Given the description of an element on the screen output the (x, y) to click on. 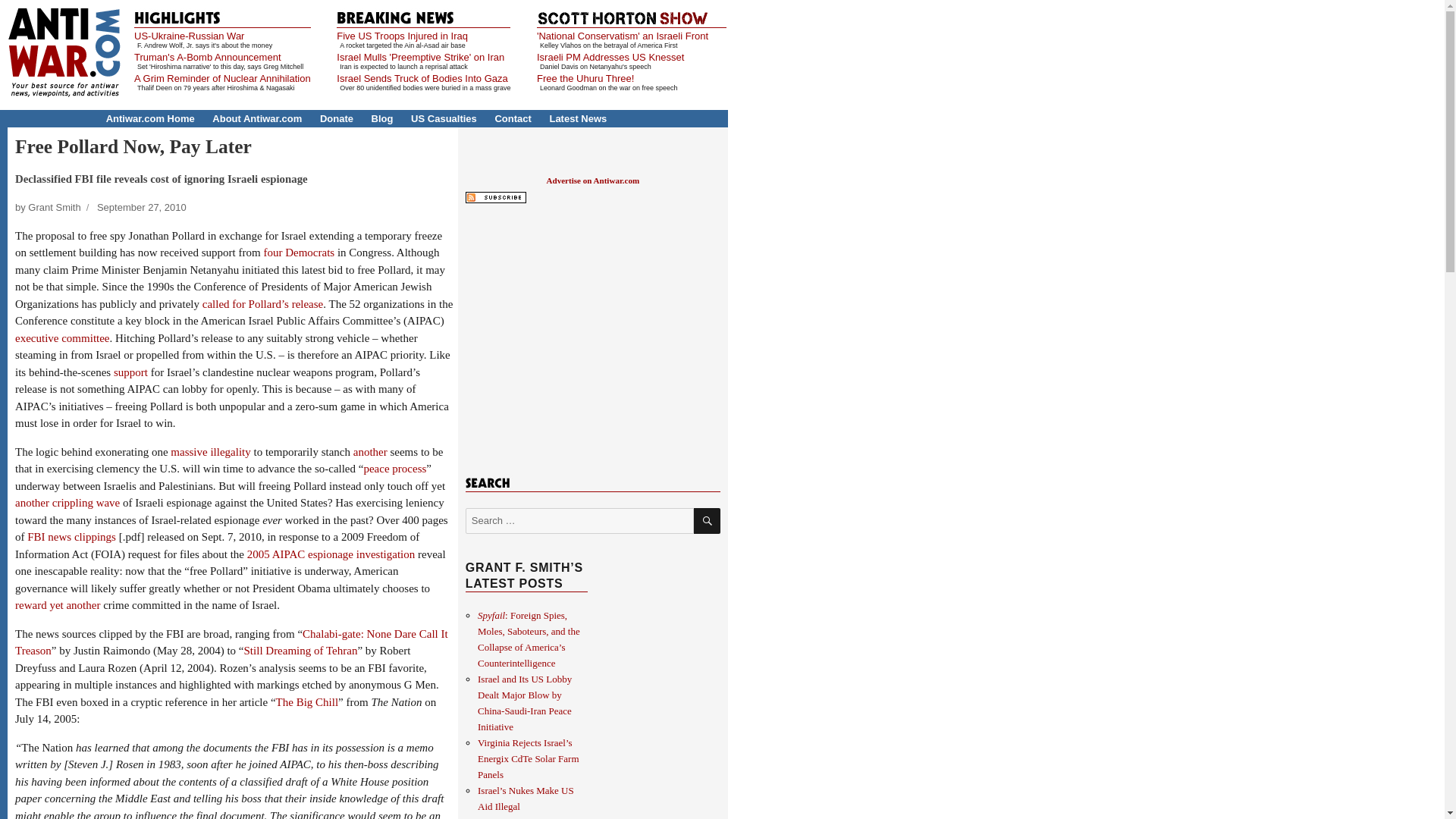
Israeli PM Addresses US Knesset (610, 57)
3rd party ad content (592, 337)
Free the Uhuru Three! (585, 78)
Still Dreaming of Tehran (301, 650)
Posts by Grant Smith (53, 206)
Israel Sends Truck of Bodies Into Gaza (421, 78)
four Democrats (298, 252)
Contact (513, 118)
2005 AIPAC espionage investigation (330, 553)
reward yet another (57, 604)
'National Conservatism' an Israeli Front (622, 35)
Donate (336, 118)
US-Ukraine-Russian War (188, 35)
FBI news clippings (71, 536)
massive illegality (210, 451)
